Given the description of an element on the screen output the (x, y) to click on. 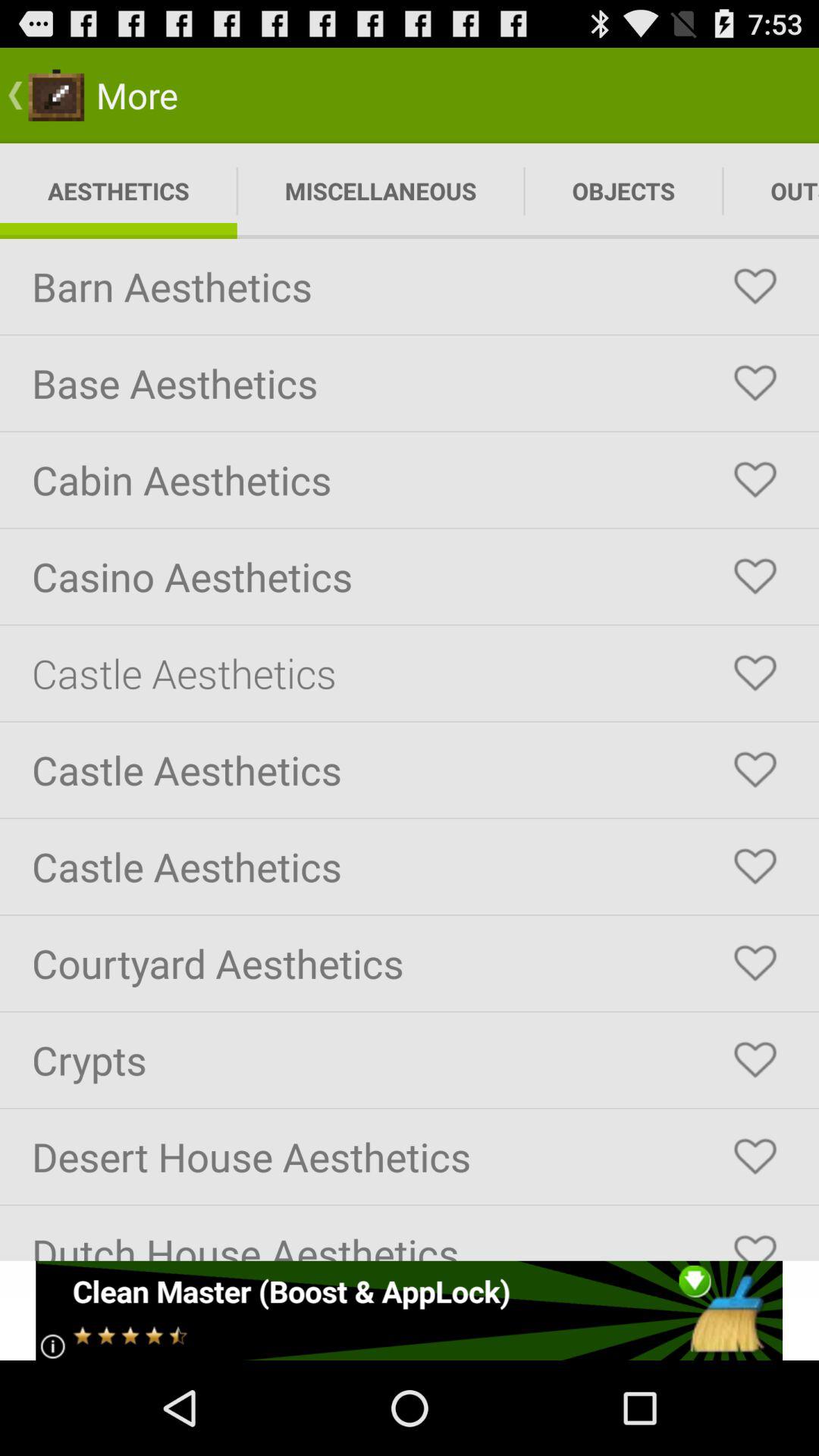
toggle heart (755, 286)
